Given the description of an element on the screen output the (x, y) to click on. 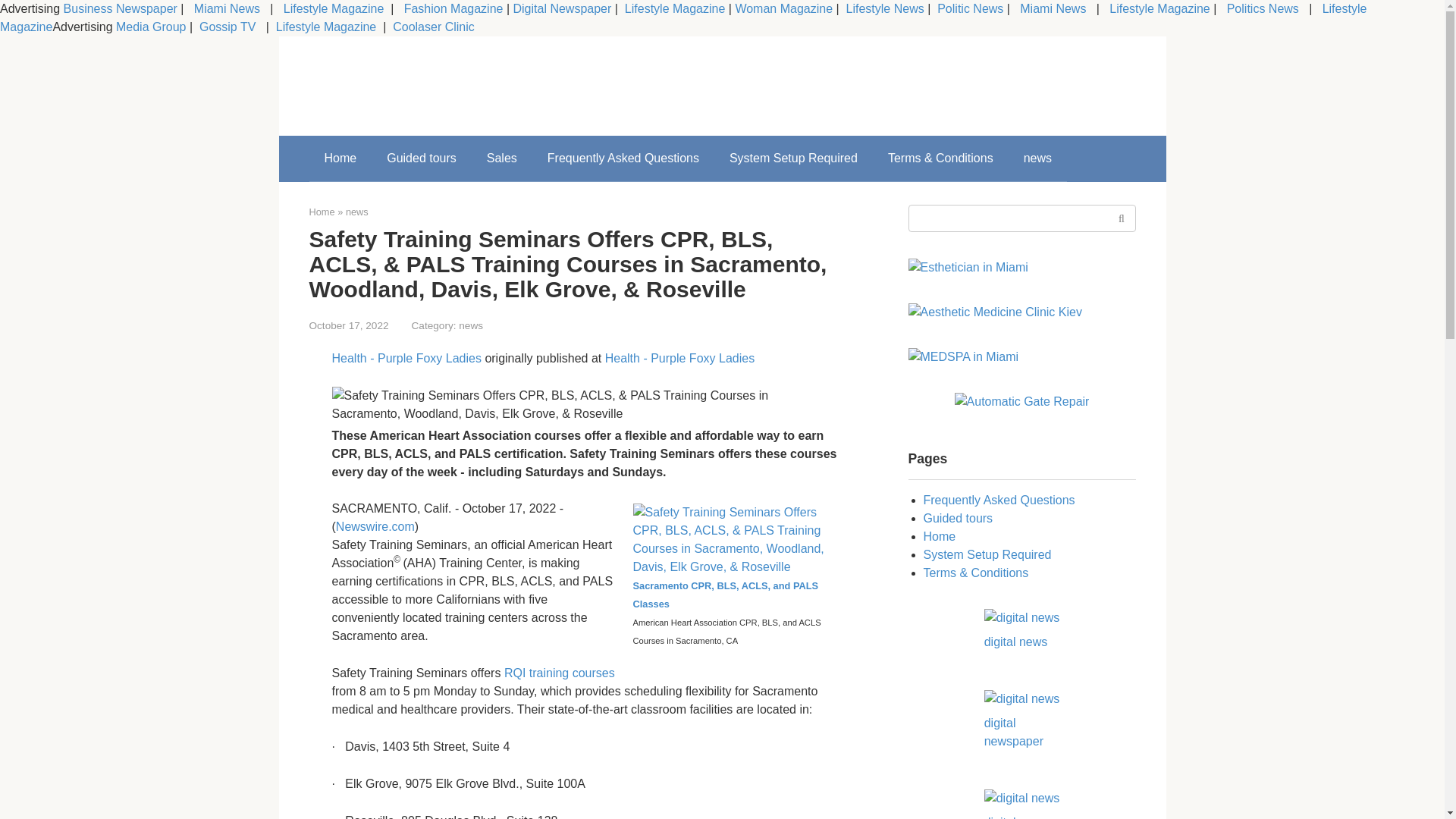
Business Newspaper (120, 8)
System Setup Required (793, 157)
Coolaser Clinic (433, 26)
RQI training courses (558, 672)
Sacramento CPR, BLS, ACLS, and PALS Classes (733, 584)
Miami News (226, 8)
Lifestyle Magazine (1157, 8)
Miami News (1052, 8)
Lifestyle News (883, 8)
Frequently Asked Questions (623, 157)
